Given the description of an element on the screen output the (x, y) to click on. 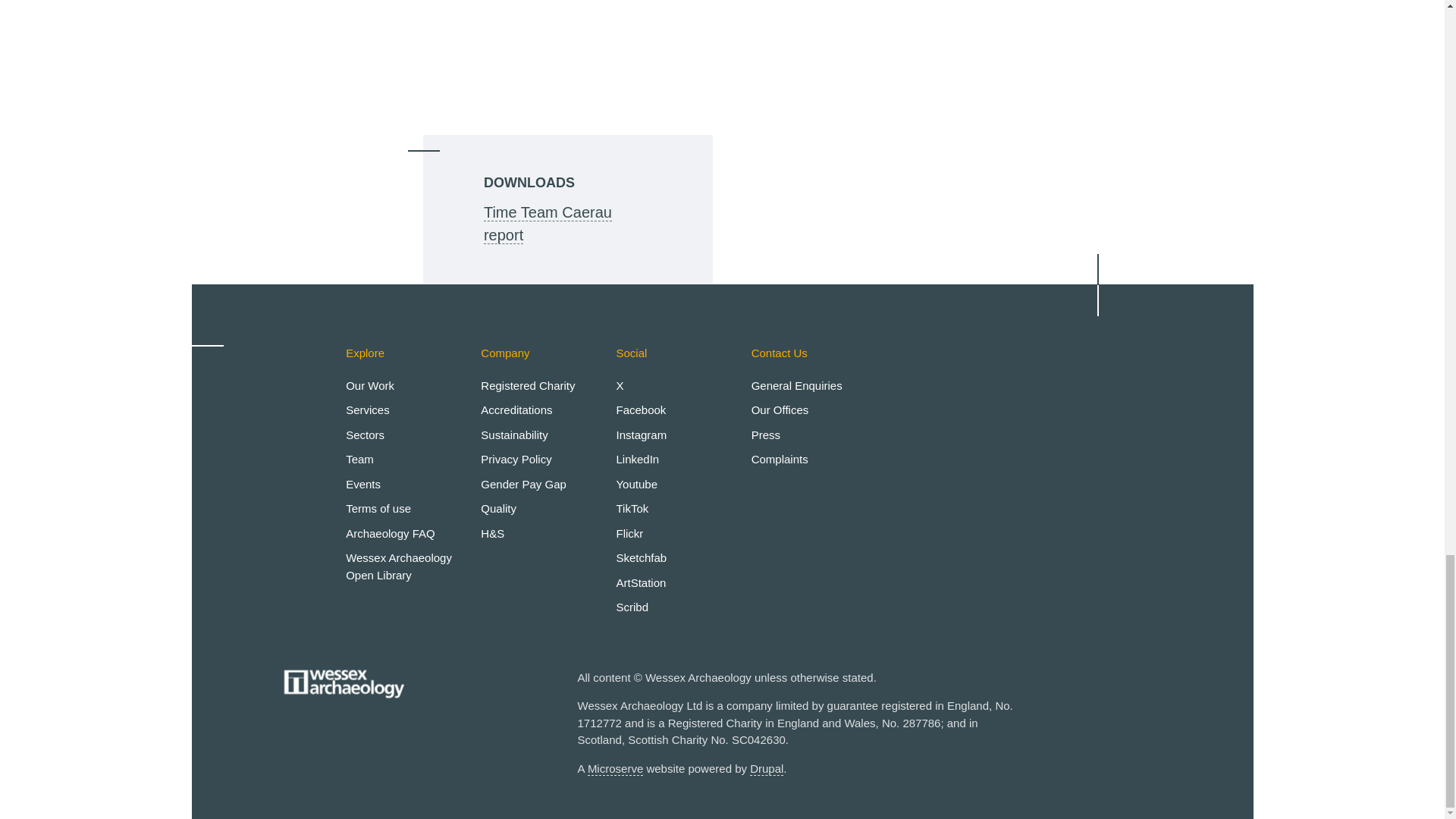
Events (363, 483)
Accreditations (515, 409)
Studio Portfolio (640, 582)
Time Team Caerau report (547, 223)
Gender Pay Gap (523, 483)
Social (630, 352)
Quality Policy (498, 508)
Registered Charity (527, 385)
Team (360, 459)
252377682-Time-Team-Caerau.pdf (547, 223)
